Given the description of an element on the screen output the (x, y) to click on. 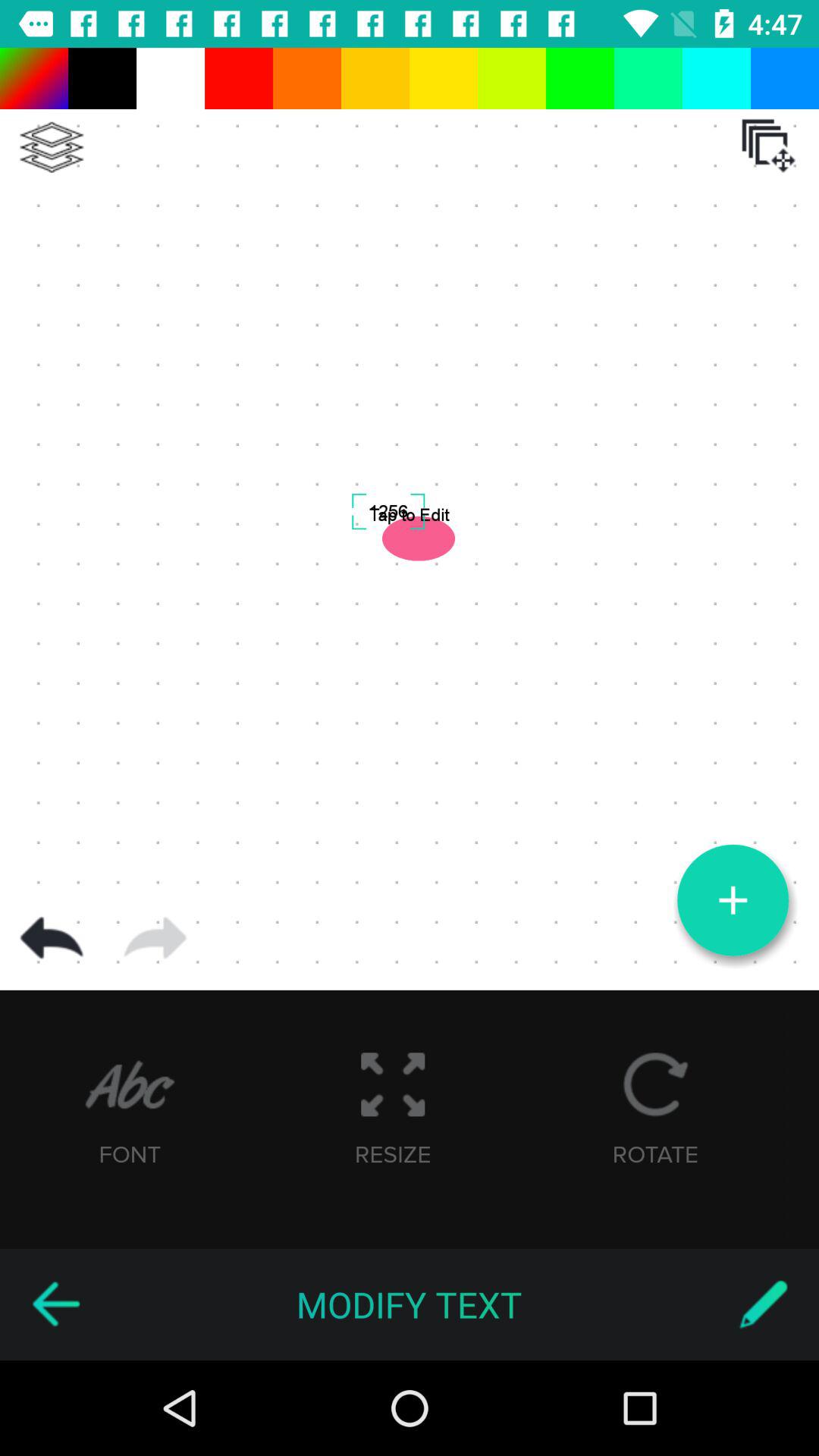
select to menu option (51, 147)
